Given the description of an element on the screen output the (x, y) to click on. 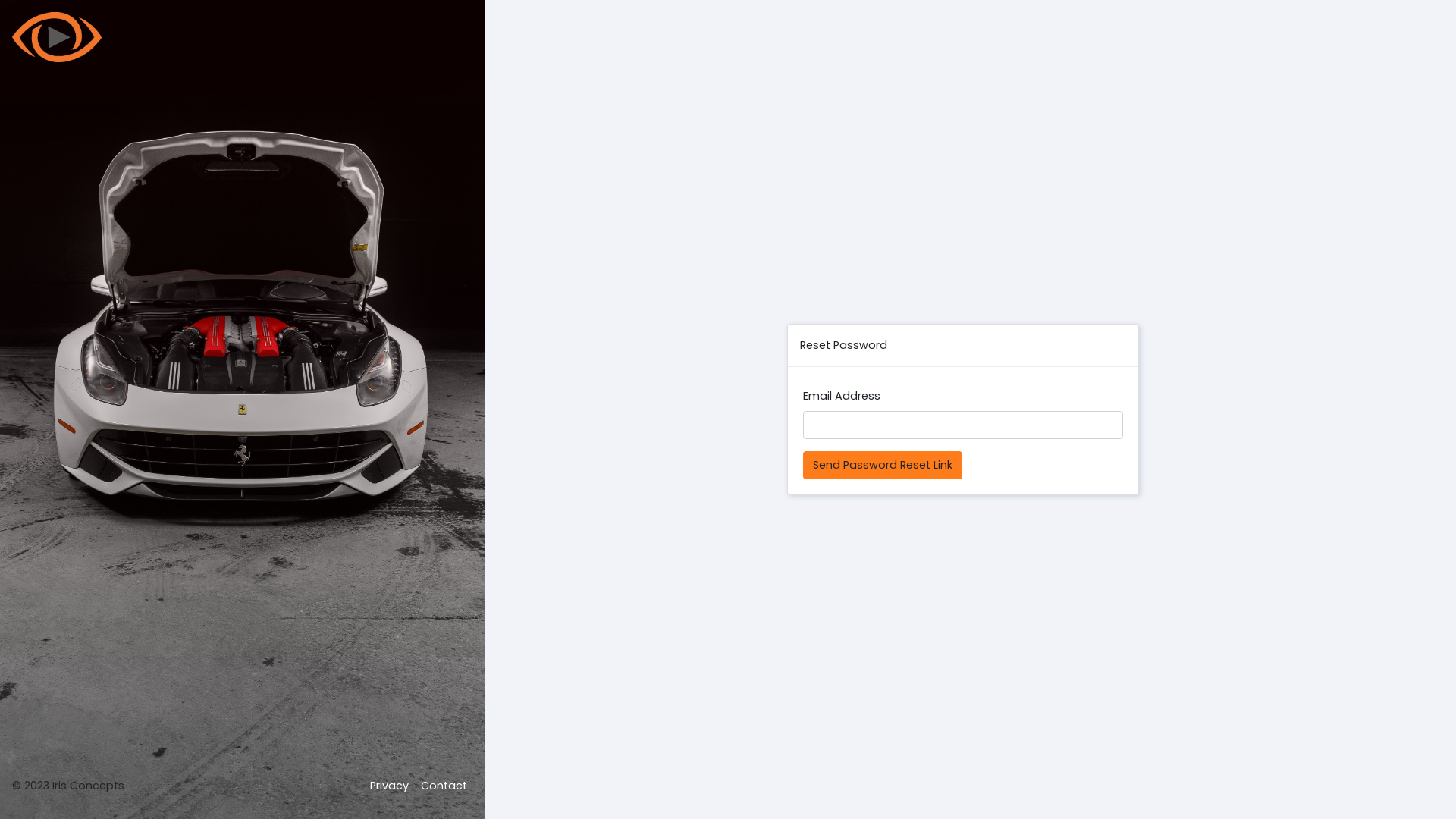
Send Password Reset Link Element type: text (882, 465)
Privacy Element type: text (389, 785)
Contact Element type: text (443, 785)
